Given the description of an element on the screen output the (x, y) to click on. 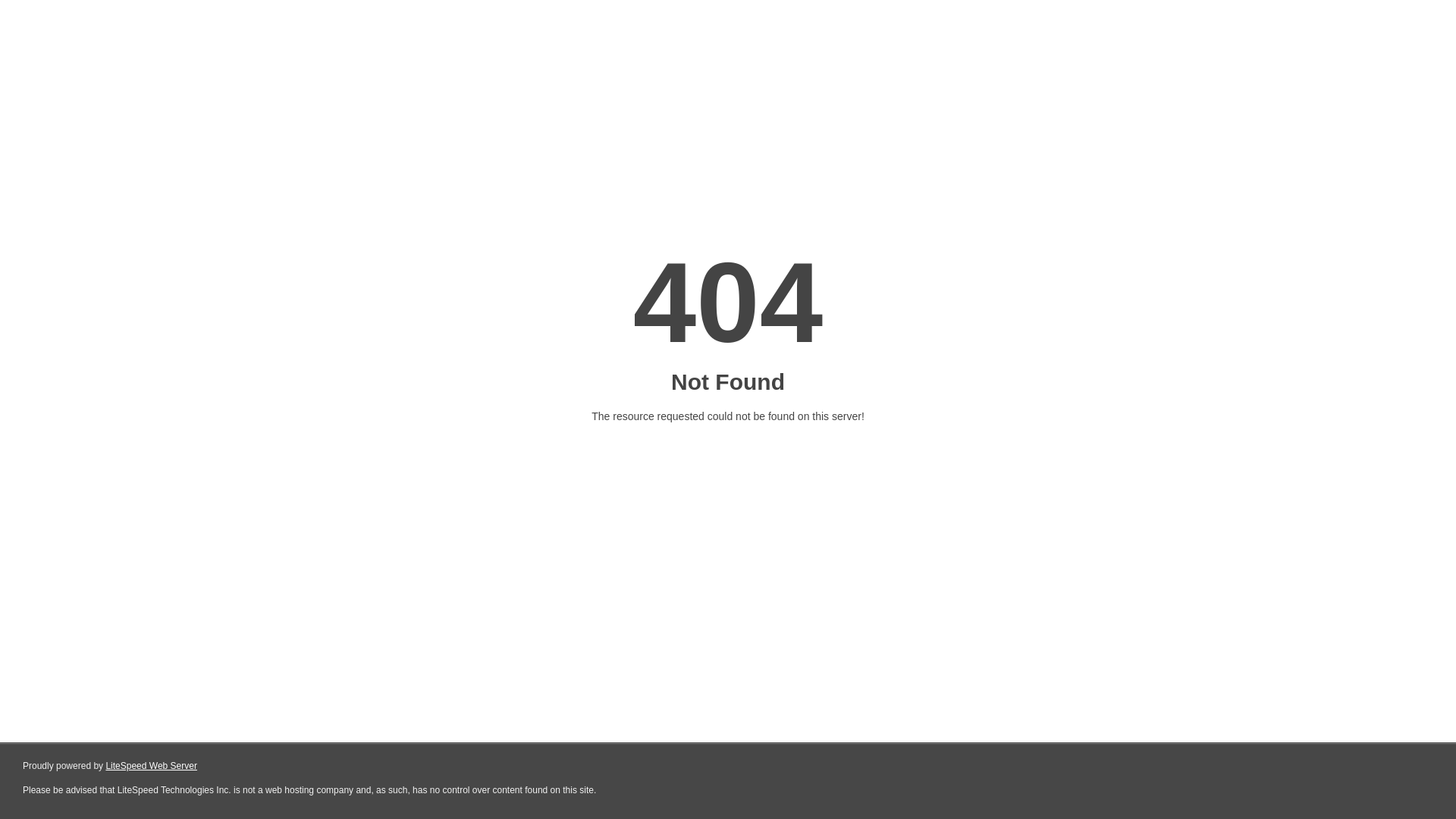
LiteSpeed Web Server Element type: text (151, 765)
